Given the description of an element on the screen output the (x, y) to click on. 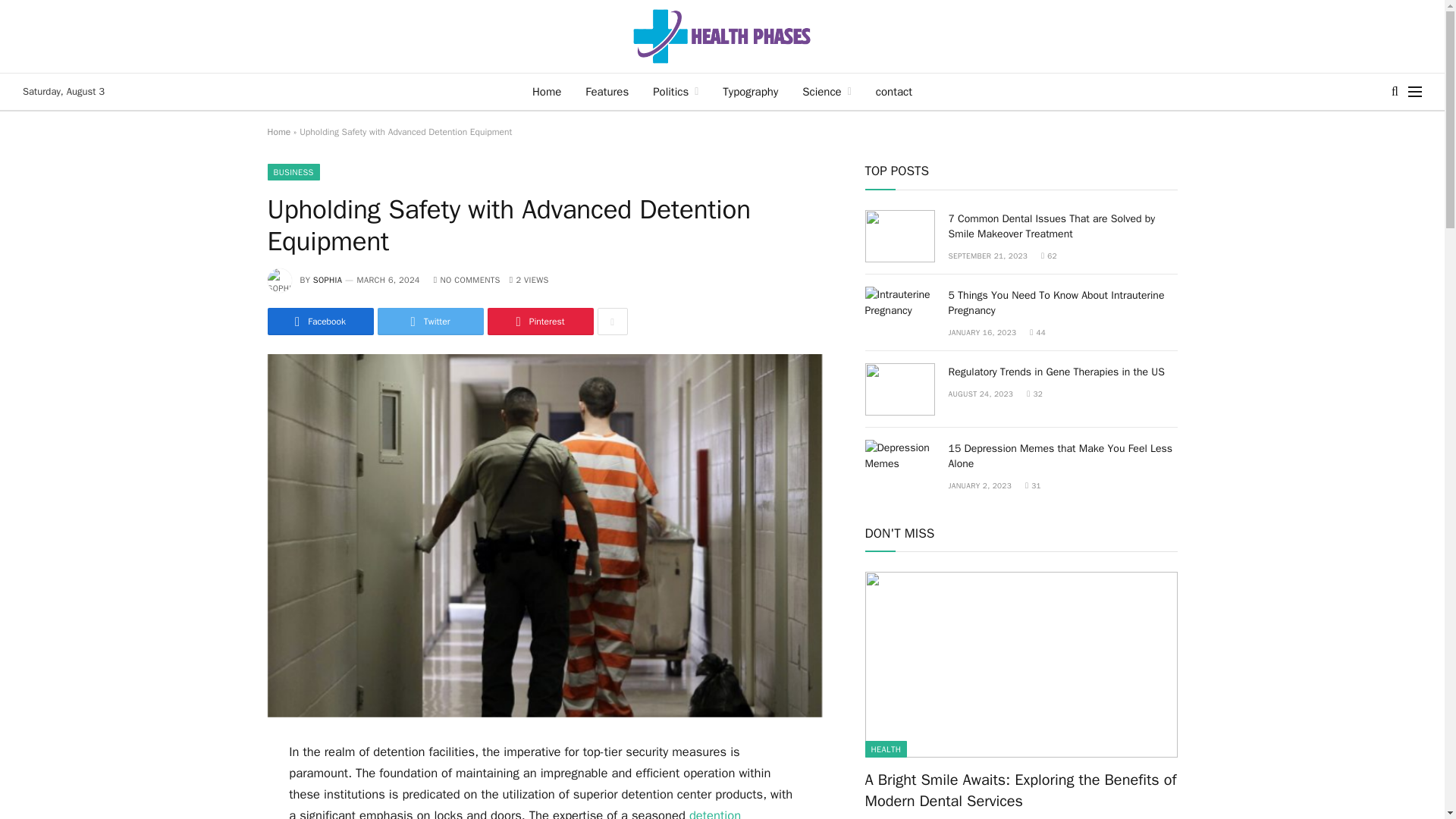
Home (277, 132)
Features (606, 91)
BUSINESS (292, 171)
Science (826, 91)
Politics (675, 91)
contact (893, 91)
Facebook (319, 320)
Pinterest (539, 320)
Twitter (430, 320)
Health Phases (721, 36)
Typography (750, 91)
NO COMMENTS (466, 279)
Home (546, 91)
SOPHIA (327, 279)
